Given the description of an element on the screen output the (x, y) to click on. 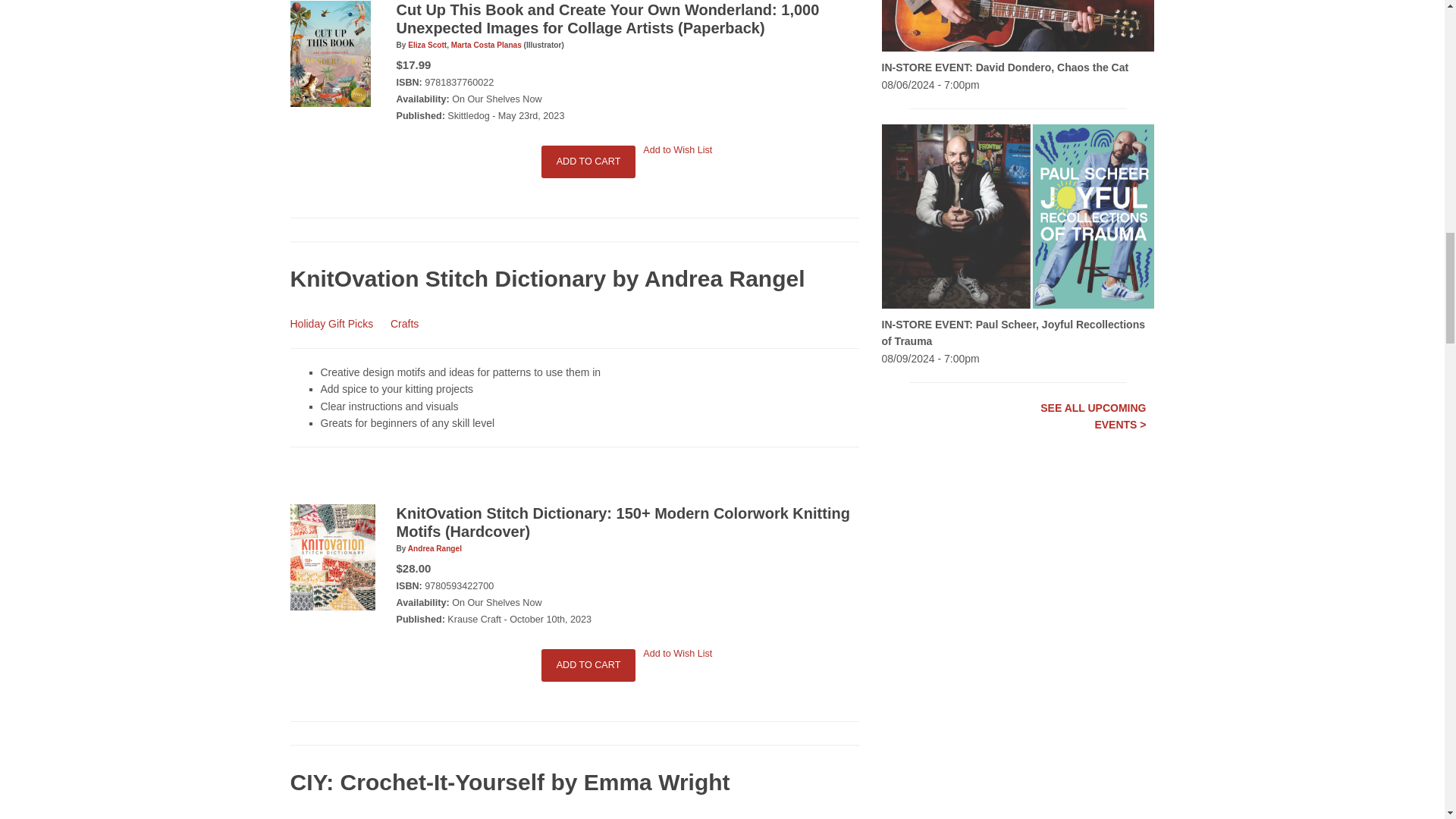
Add to Cart (588, 664)
Add to Cart (588, 161)
